Given the description of an element on the screen output the (x, y) to click on. 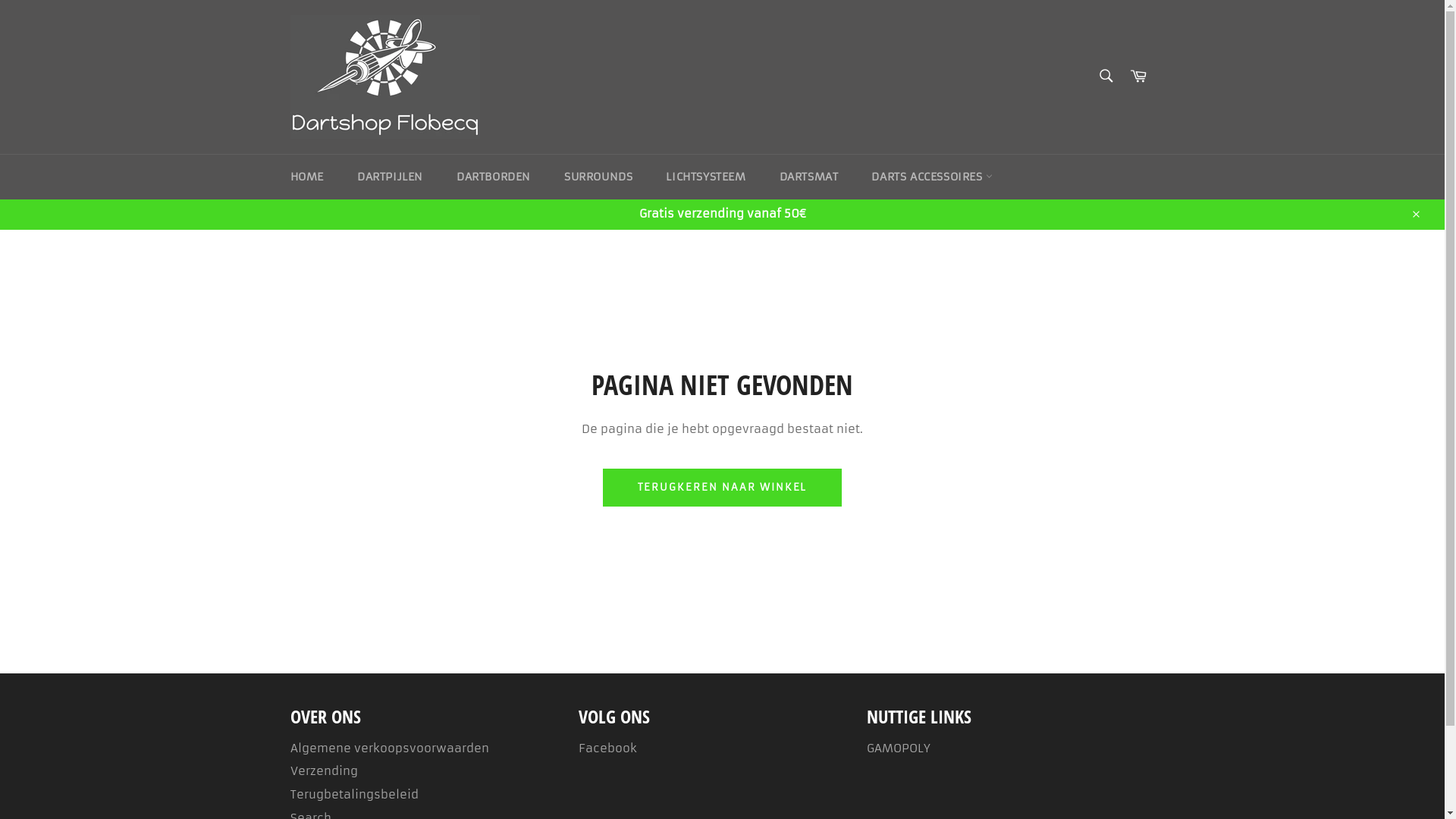
DARTPIJLEN Element type: text (390, 176)
Zoeken Element type: text (1105, 75)
LICHTSYSTEEM Element type: text (705, 176)
Algemene verkoopsvoorwaarden Element type: text (388, 747)
HOME Element type: text (306, 176)
Terugbetalingsbeleid Element type: text (353, 794)
DARTS ACCESSOIRES Element type: text (931, 176)
GAMOPOLY Element type: text (897, 747)
Facebook Element type: text (606, 747)
DARTBORDEN Element type: text (493, 176)
Winkelwagen Element type: text (1138, 76)
SURROUNDS Element type: text (598, 176)
TERUGKEREN NAAR WINKEL Element type: text (722, 487)
DARTSMAT Element type: text (808, 176)
Verzending Element type: text (323, 770)
Sluiten Element type: text (1414, 213)
